Given the description of an element on the screen output the (x, y) to click on. 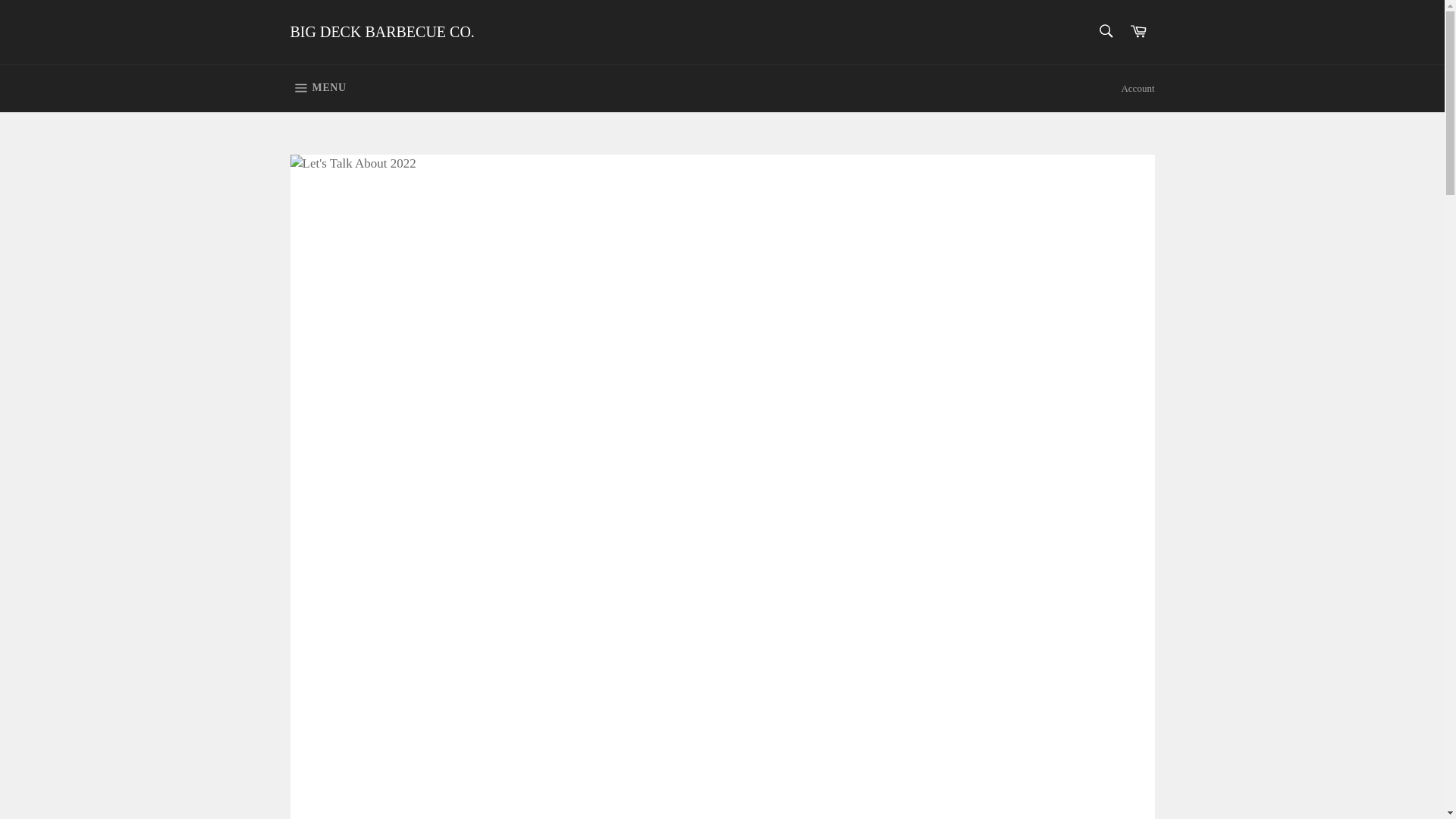
BIG DECK BARBECUE CO. (318, 88)
Search (381, 32)
Cart (1104, 30)
Account (1138, 32)
